Given the description of an element on the screen output the (x, y) to click on. 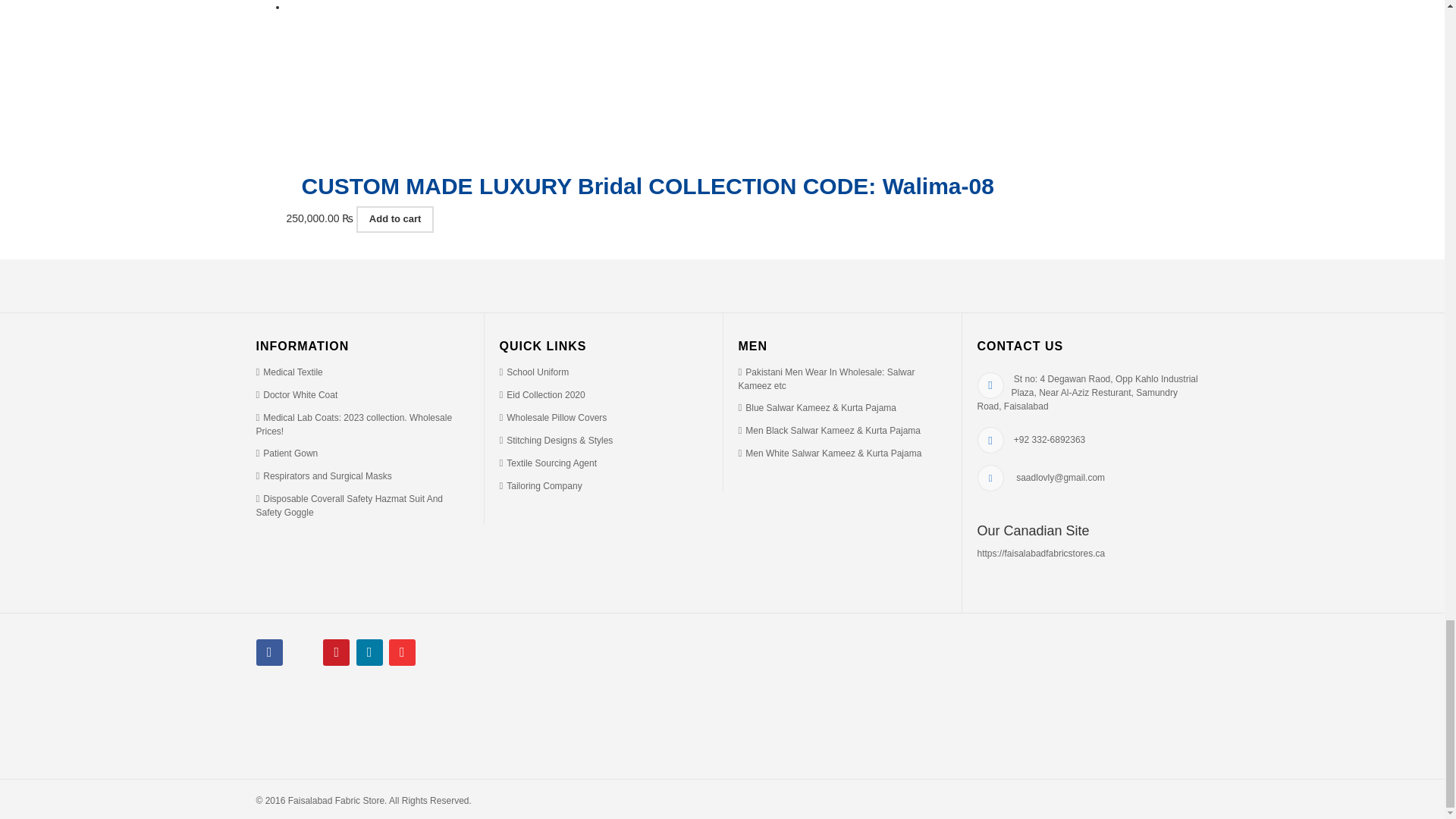
How to buy (534, 371)
How to buy (354, 424)
How to buy (350, 505)
How to buy (553, 417)
How to buy (289, 371)
How to buy (296, 394)
How to buy (542, 394)
How to buy (287, 452)
How to buy (323, 475)
